Given the description of an element on the screen output the (x, y) to click on. 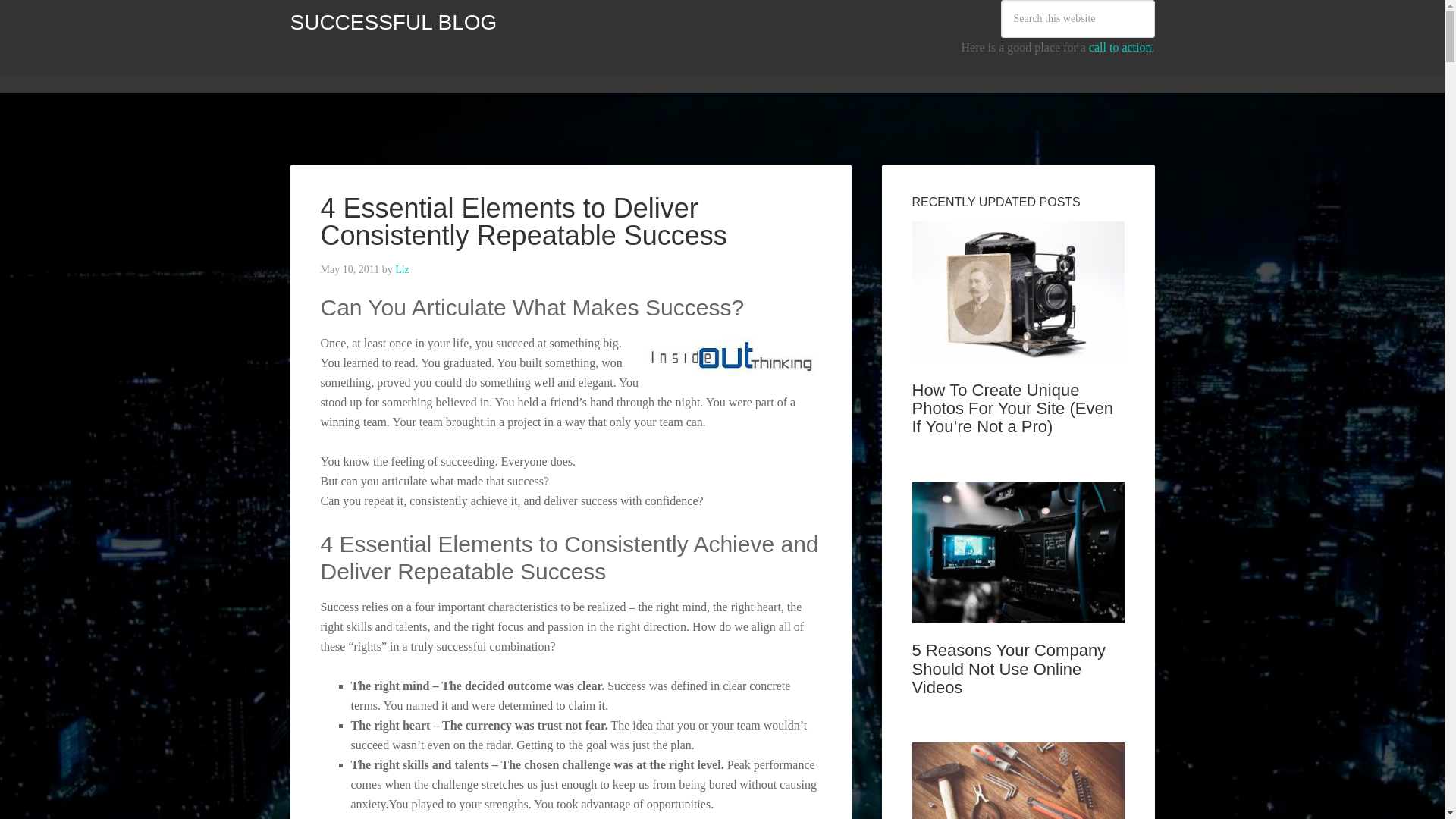
call to action (1120, 47)
SUCCESSFUL BLOG (392, 22)
Liz (401, 269)
Community (384, 68)
Stay Tuned (707, 68)
Home (315, 68)
About (452, 68)
Author Guidelines (535, 68)
